Given the description of an element on the screen output the (x, y) to click on. 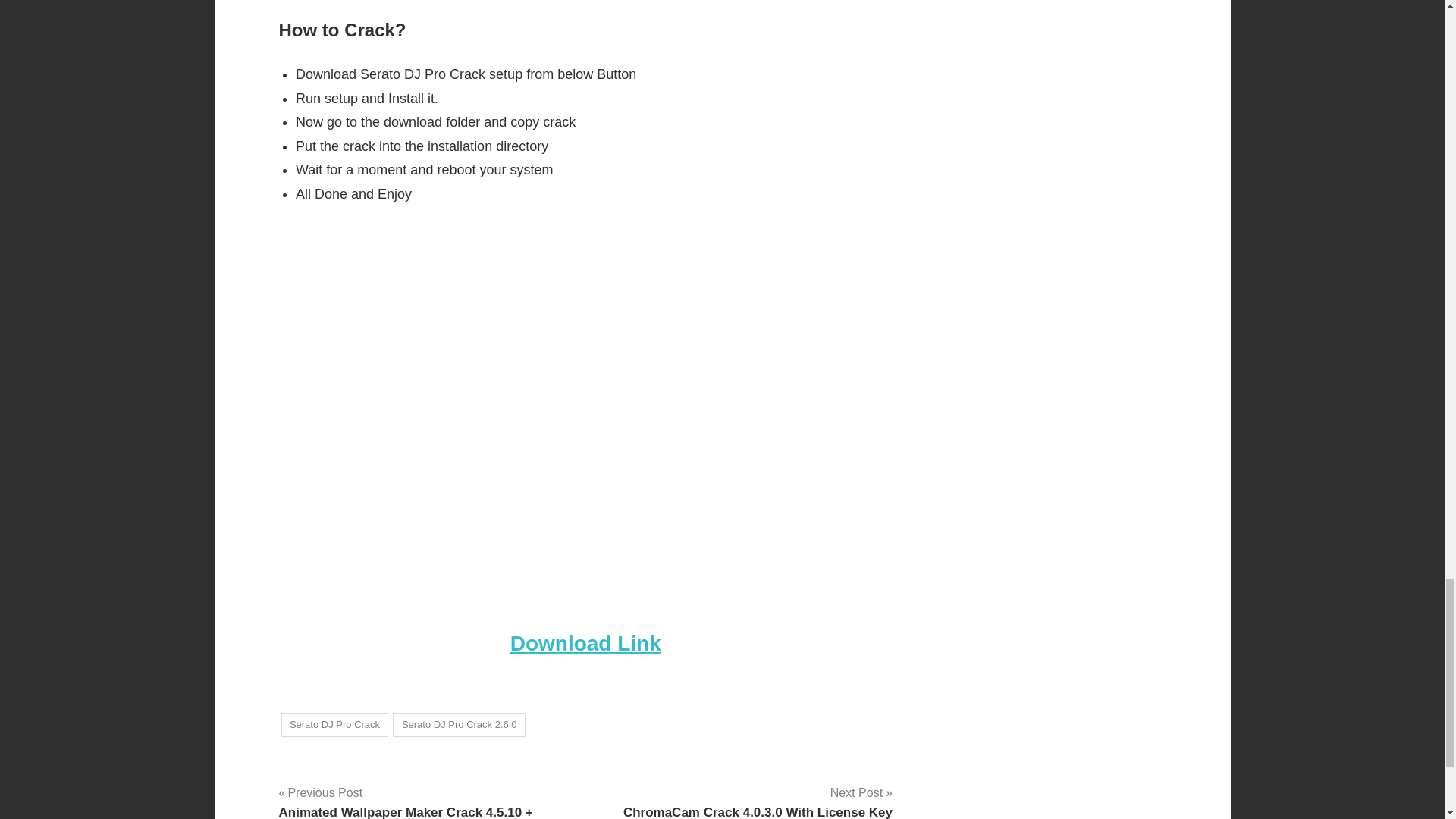
Serato DJ Pro Crack (334, 724)
Download Link (586, 643)
Serato DJ Pro Crack 2.6.0 (459, 724)
